Given the description of an element on the screen output the (x, y) to click on. 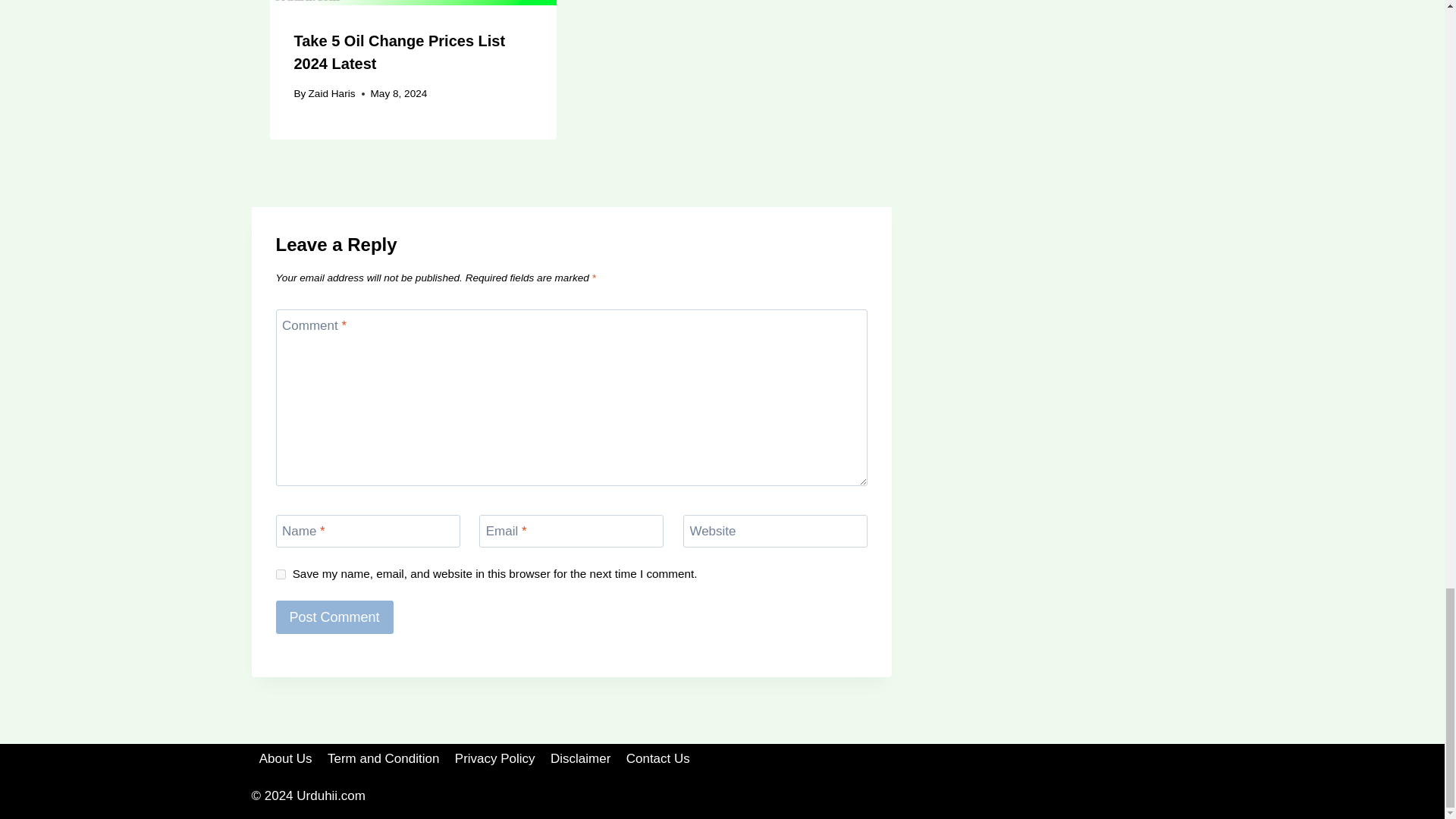
Post Comment (334, 616)
yes (280, 574)
